Given the description of an element on the screen output the (x, y) to click on. 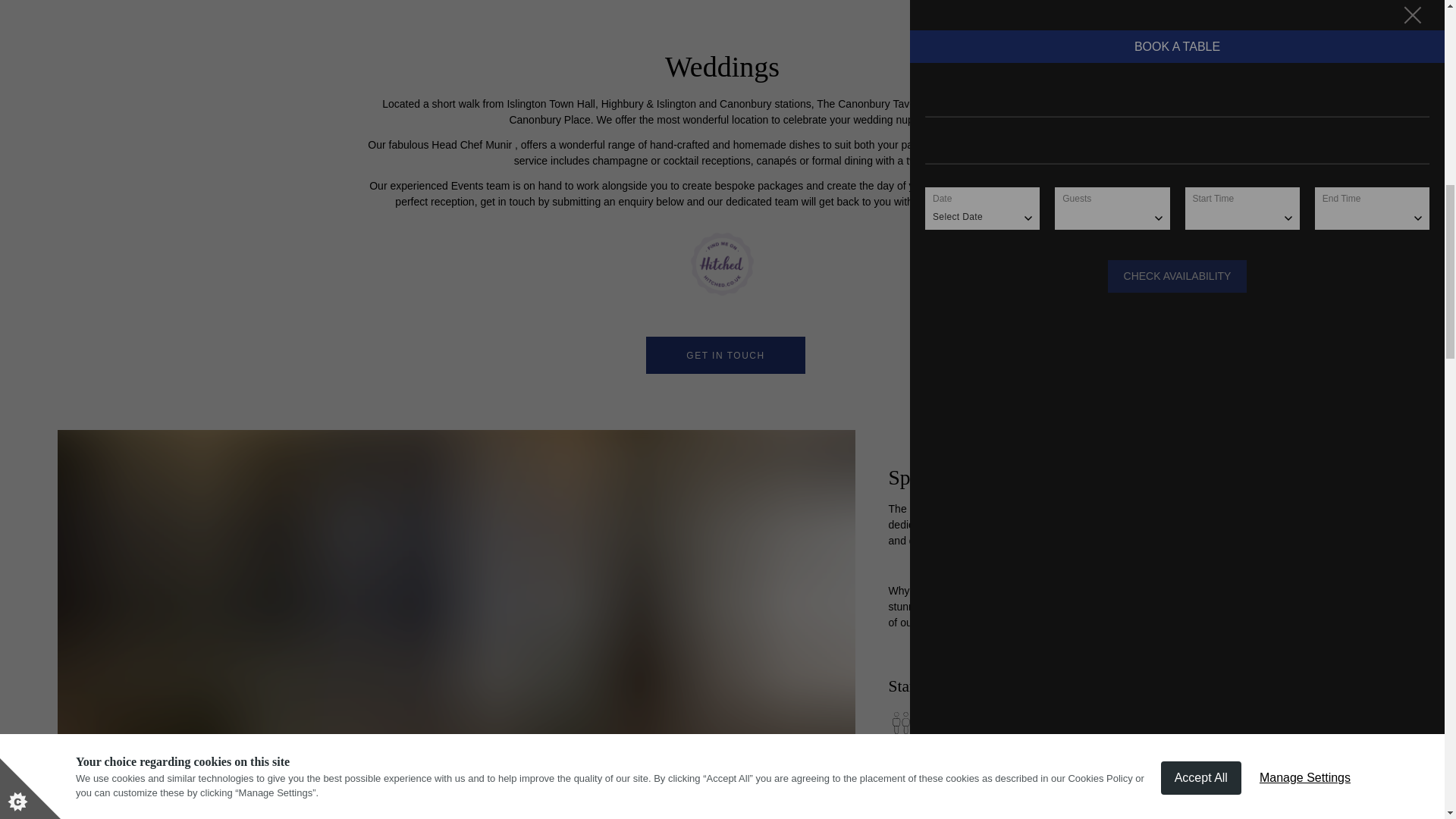
ENQUIRE TODAY (968, 785)
GET IN TOUCH (725, 354)
Accept All (1200, 17)
Manage Settings (1304, 8)
